Given the description of an element on the screen output the (x, y) to click on. 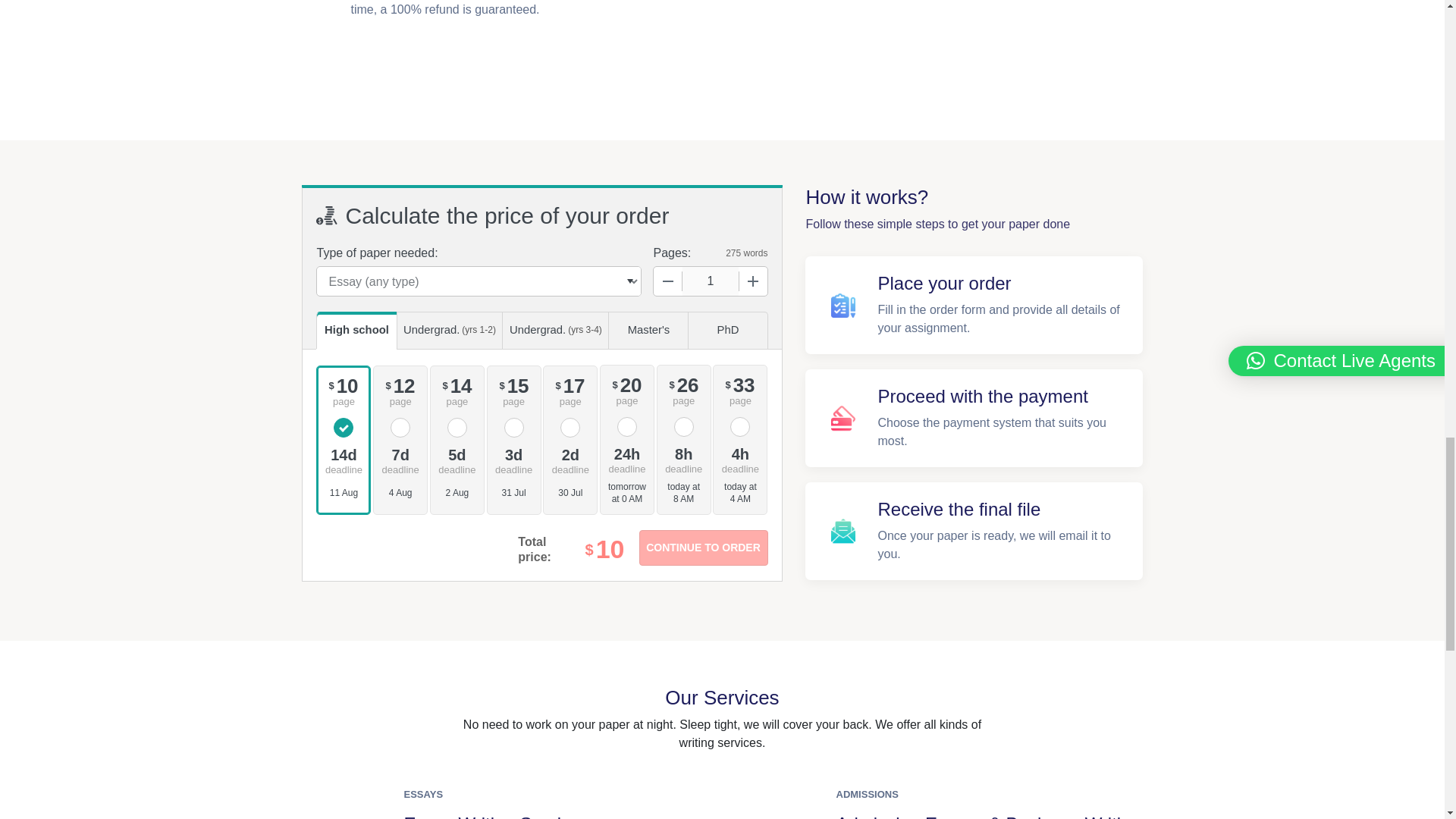
14 days (343, 460)
1 (710, 280)
Continue to order (703, 547)
Increase (752, 280)
Continue to order (703, 547)
Decrease (667, 280)
